Given the description of an element on the screen output the (x, y) to click on. 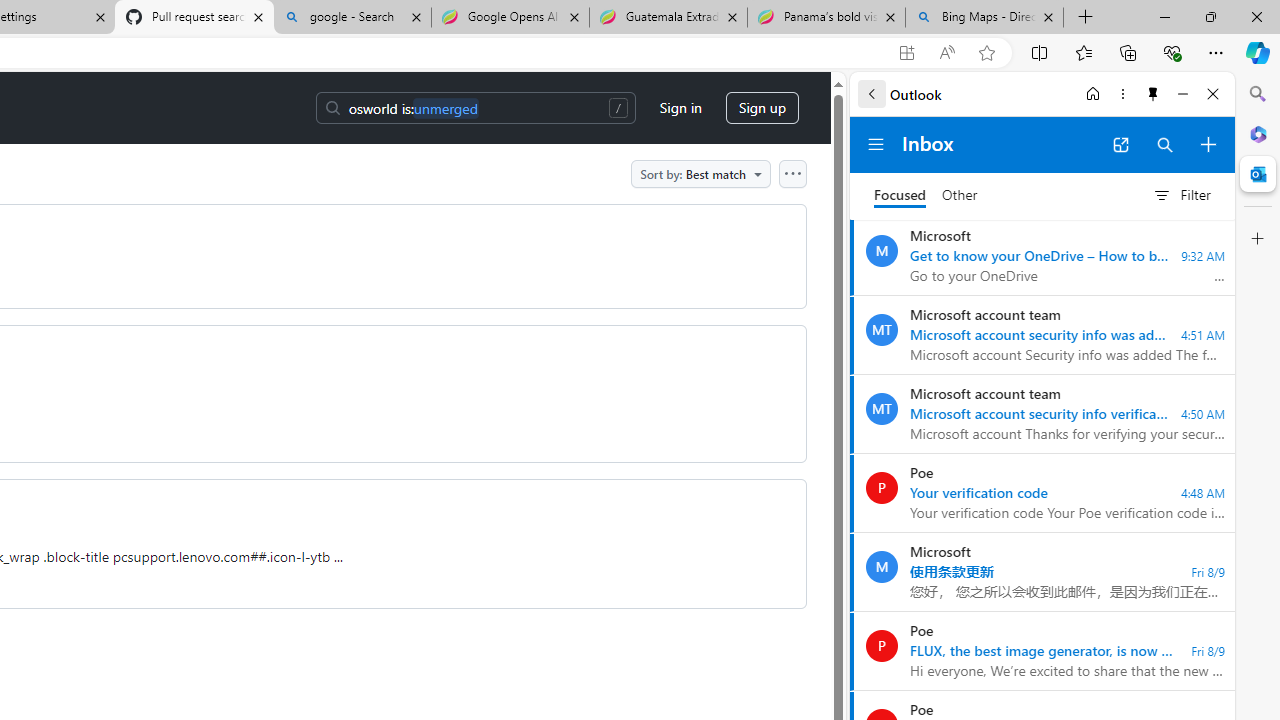
App available. Install GitHub (906, 53)
Google Opens AI Academy for Startups - Nearshore Americas (509, 17)
Sign up (761, 107)
Folder navigation (876, 144)
